Given the description of an element on the screen output the (x, y) to click on. 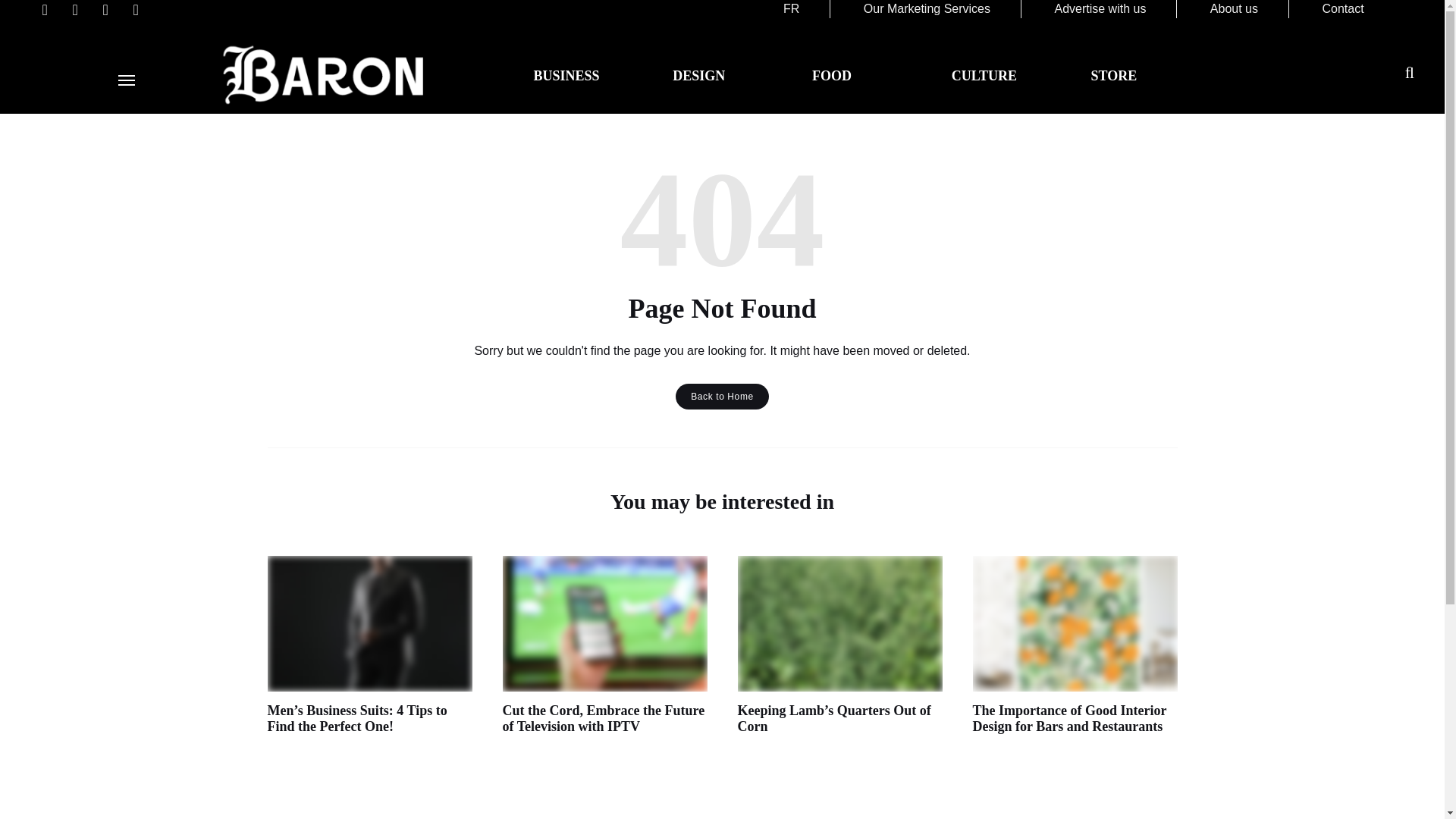
Menu (126, 79)
FR (791, 8)
About us (1233, 8)
Our Marketing Services (926, 8)
Contact (1342, 8)
BUSINESS (565, 75)
Advertise with us (1099, 8)
